Given the description of an element on the screen output the (x, y) to click on. 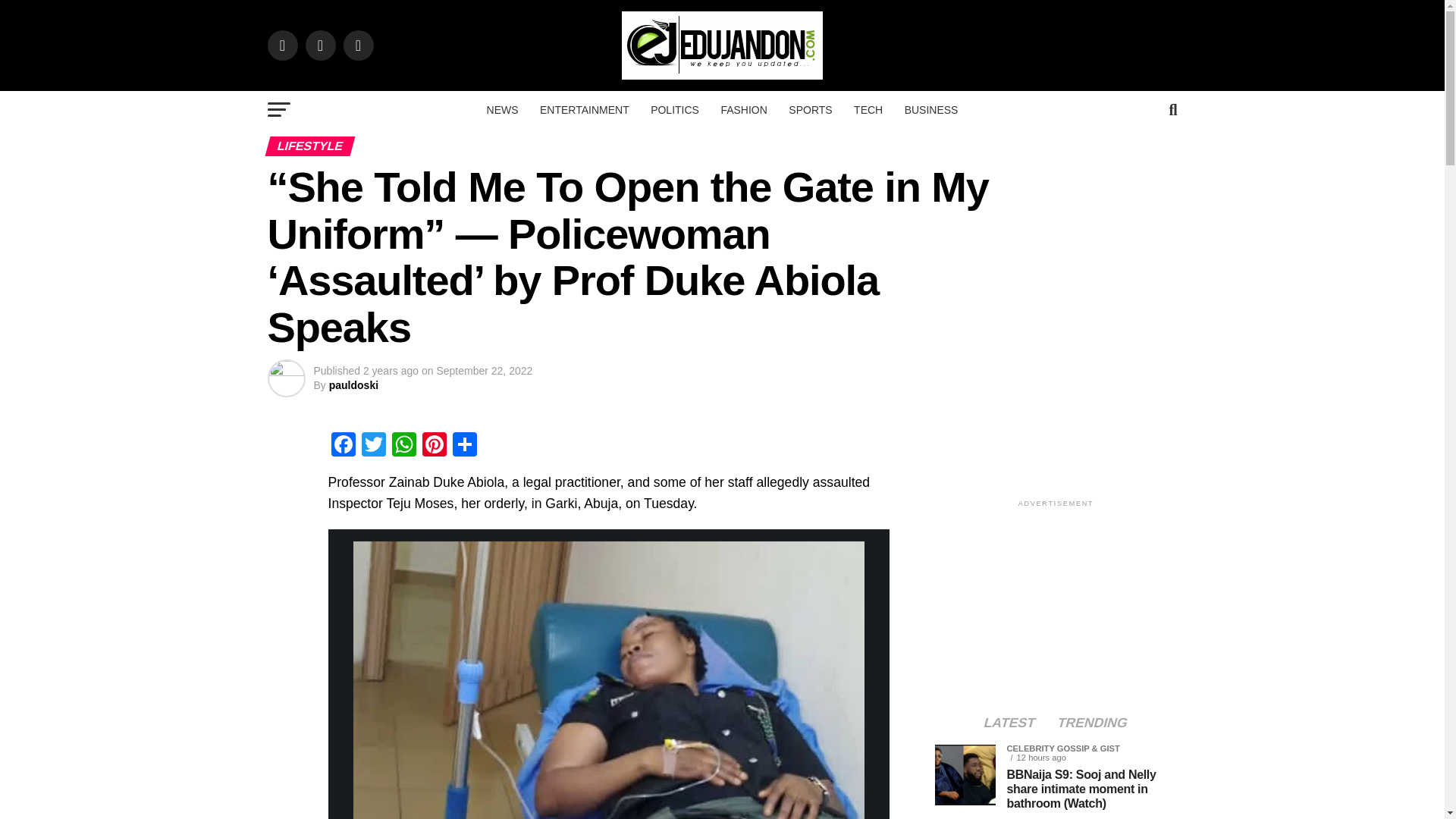
Pinterest (433, 446)
WhatsApp (403, 446)
Facebook (342, 446)
ENTERTAINMENT (585, 109)
FASHION (743, 109)
Twitter (373, 446)
POLITICS (674, 109)
NEWS (502, 109)
Posts by pauldoski (353, 385)
